Given the description of an element on the screen output the (x, y) to click on. 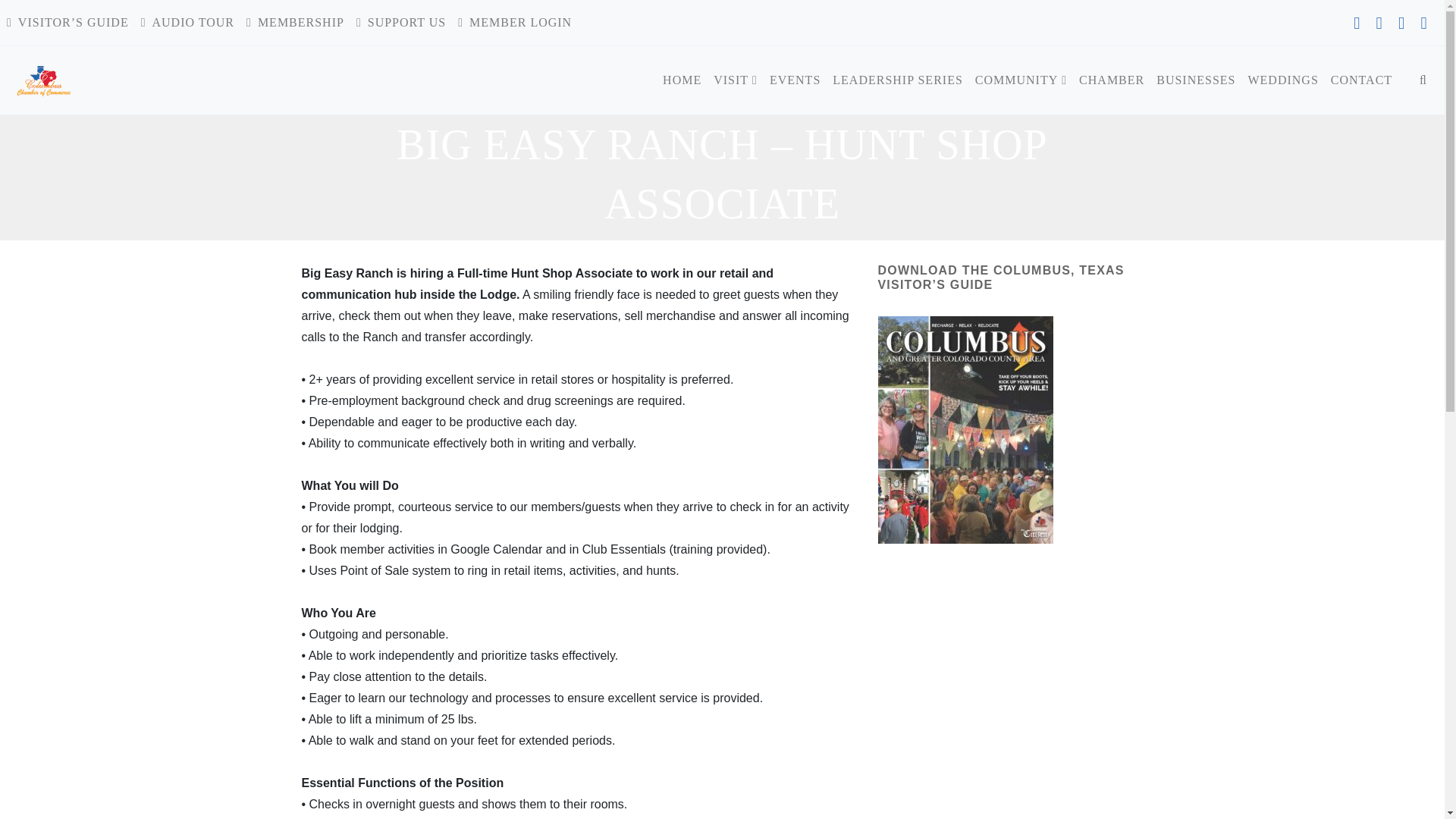
CHAMBER (1111, 79)
LEADERSHIP SERIES (898, 79)
WEDDINGS (1282, 79)
BUSINESSES (1195, 79)
Events (794, 79)
Support Us (400, 22)
Audio Tour (187, 22)
MEMBER LOGIN (514, 22)
Leadership Series (898, 79)
EVENTS (794, 79)
